Given the description of an element on the screen output the (x, y) to click on. 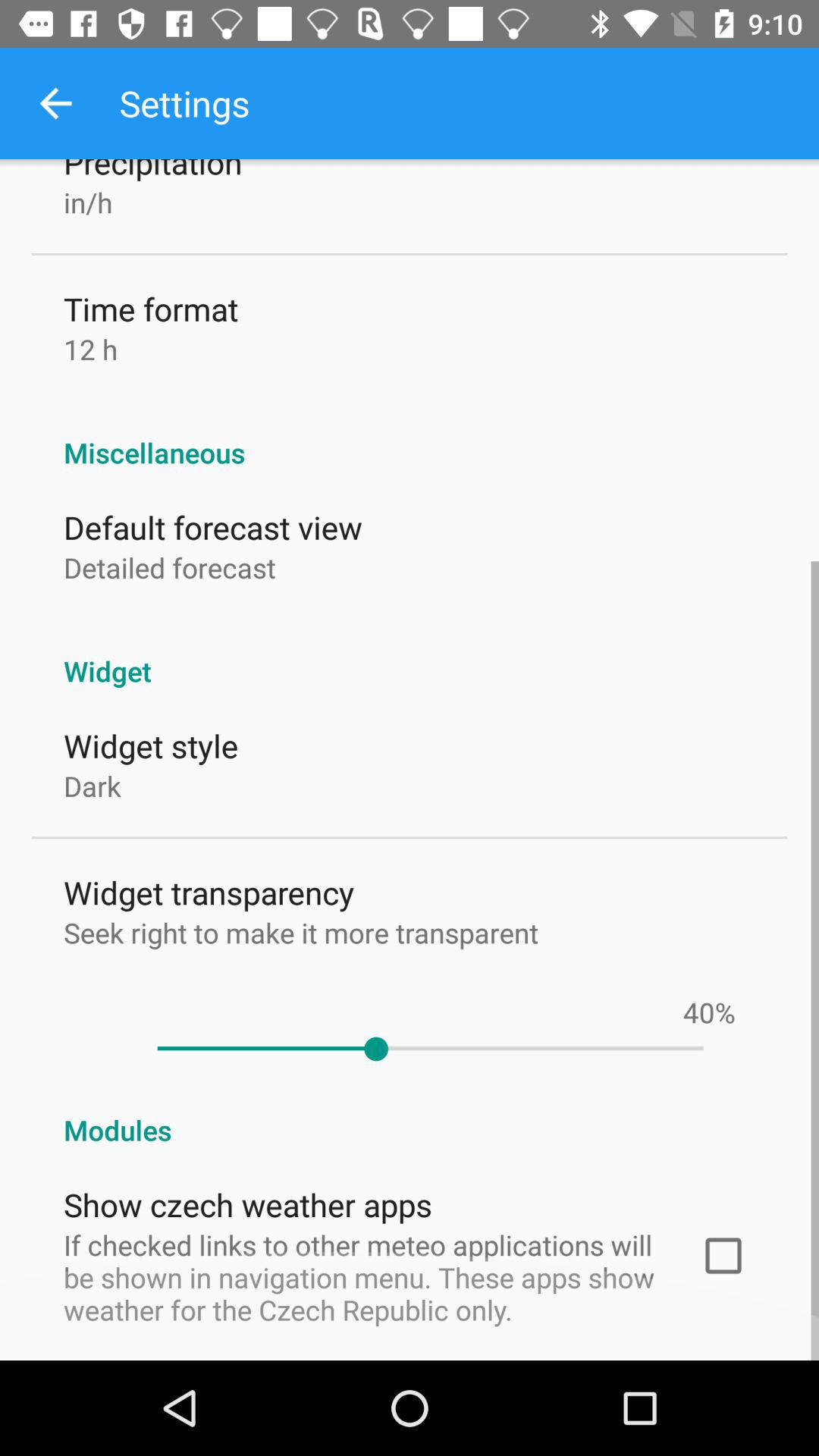
turn on the miscellaneous (409, 436)
